Given the description of an element on the screen output the (x, y) to click on. 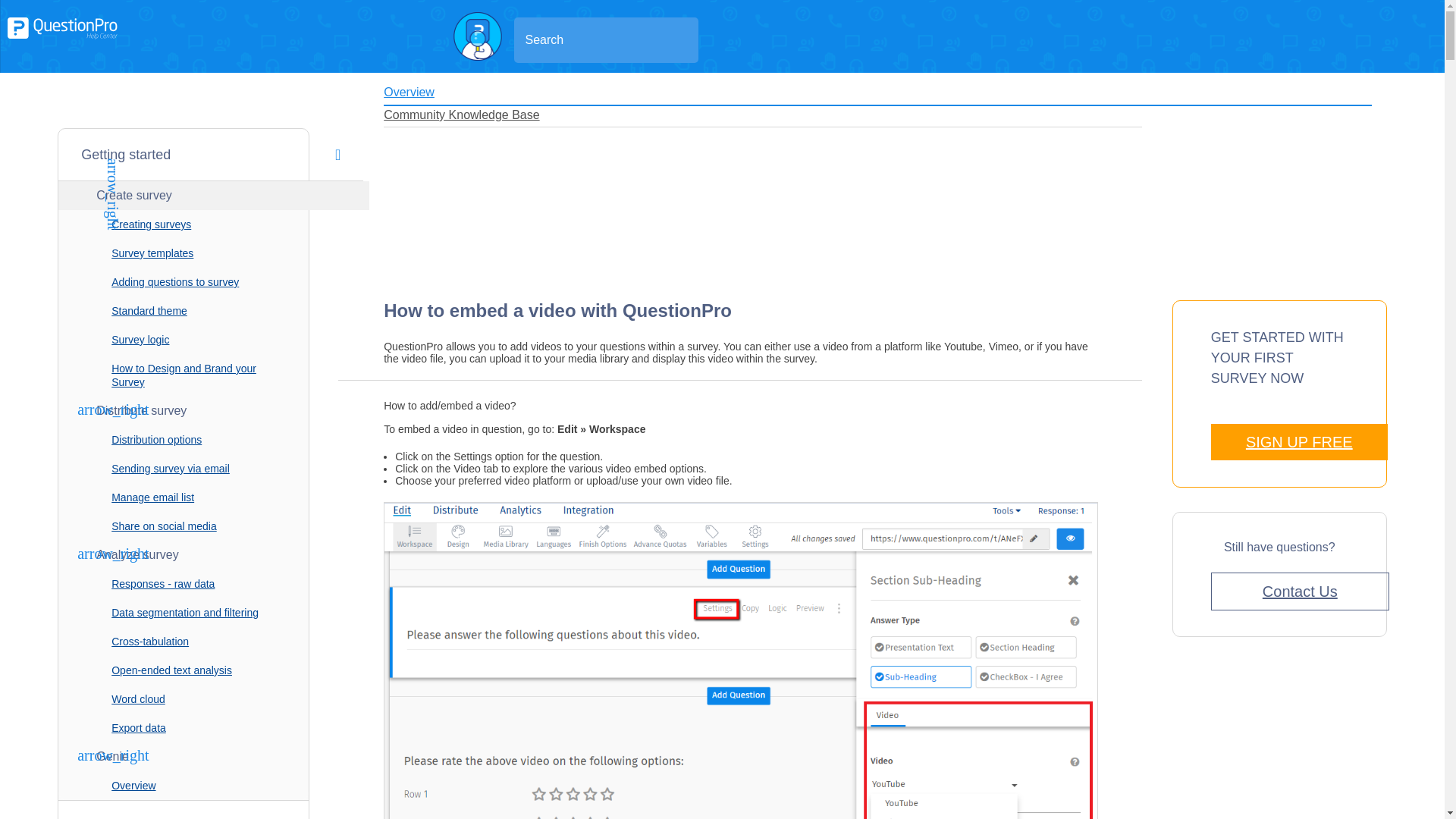
Survey design and settings (210, 809)
Distribution options (183, 439)
Open-ended text analysis (183, 670)
Responses - raw data (183, 583)
Share on social media (183, 525)
How to Design and Brand your Survey (183, 374)
Cross-tabulation (183, 641)
Overview (408, 91)
Manage email list (183, 497)
Survey logic (183, 339)
Getting started (210, 154)
Standard theme (183, 310)
Overview (183, 785)
Data segmentation and filtering (183, 612)
Community Knowledge Base (461, 114)
